Given the description of an element on the screen output the (x, y) to click on. 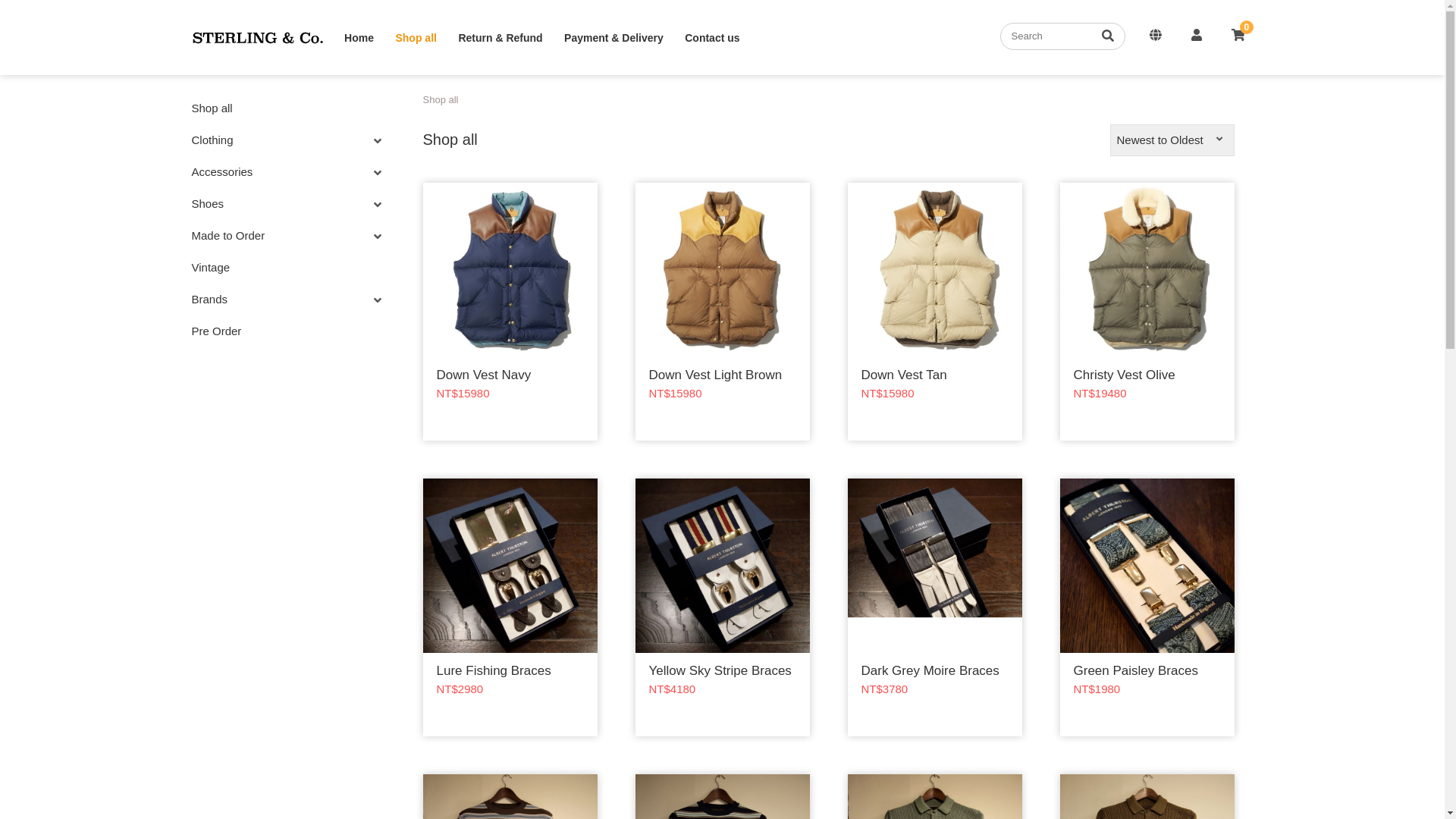
Green Paisley Braces
NT$1980 Element type: text (1147, 607)
Shoes Element type: text (207, 203)
Shop all Element type: text (440, 99)
0 Element type: text (1237, 35)
Pre Order Element type: text (278, 330)
Brands Element type: text (209, 299)
Down Vest Navy
NT$15980 Element type: text (510, 311)
Payment & Delivery Element type: text (613, 37)
Vintage Element type: text (278, 267)
Home Element type: text (358, 37)
Return & Refund Element type: text (500, 37)
Lure Fishing Braces
NT$2980 Element type: text (510, 607)
Shop all Element type: text (278, 108)
Yellow Sky Stripe Braces
NT$4180 Element type: text (722, 607)
Down Vest Light Brown
NT$15980 Element type: text (722, 311)
Shop all Element type: text (415, 37)
Christy Vest Olive
NT$19480 Element type: text (1147, 311)
Dark Grey Moire Braces
NT$3780 Element type: text (934, 607)
Made to Order Element type: text (227, 235)
Contact us Element type: text (711, 37)
Accessories Element type: text (221, 171)
Down Vest Tan
NT$15980 Element type: text (934, 311)
Clothing Element type: text (211, 139)
